Given the description of an element on the screen output the (x, y) to click on. 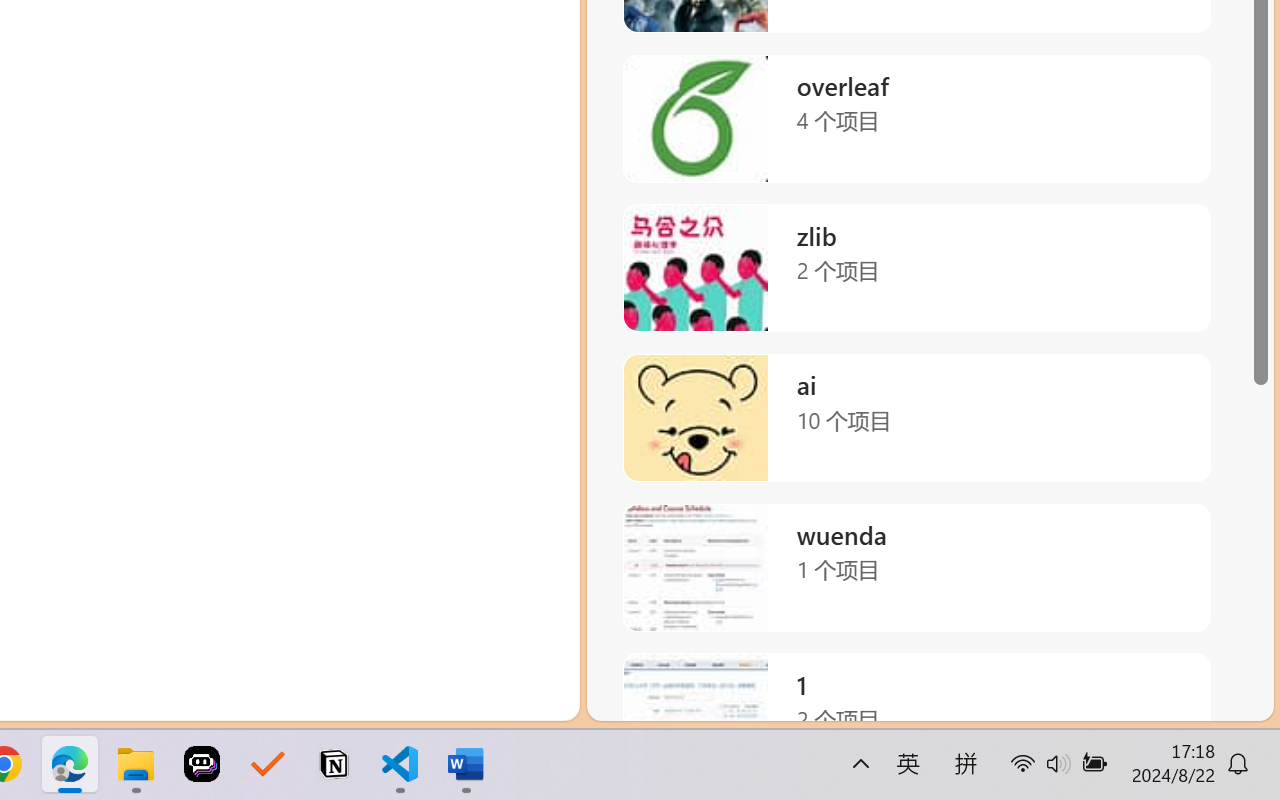
Terminal 1 bash (1165, 292)
Terminal 3 bash (1165, 372)
Terminal 2 bash (1165, 332)
Class: xterm-decoration-overview-ruler (1047, 486)
Notifications (1232, 698)
